Given the description of an element on the screen output the (x, y) to click on. 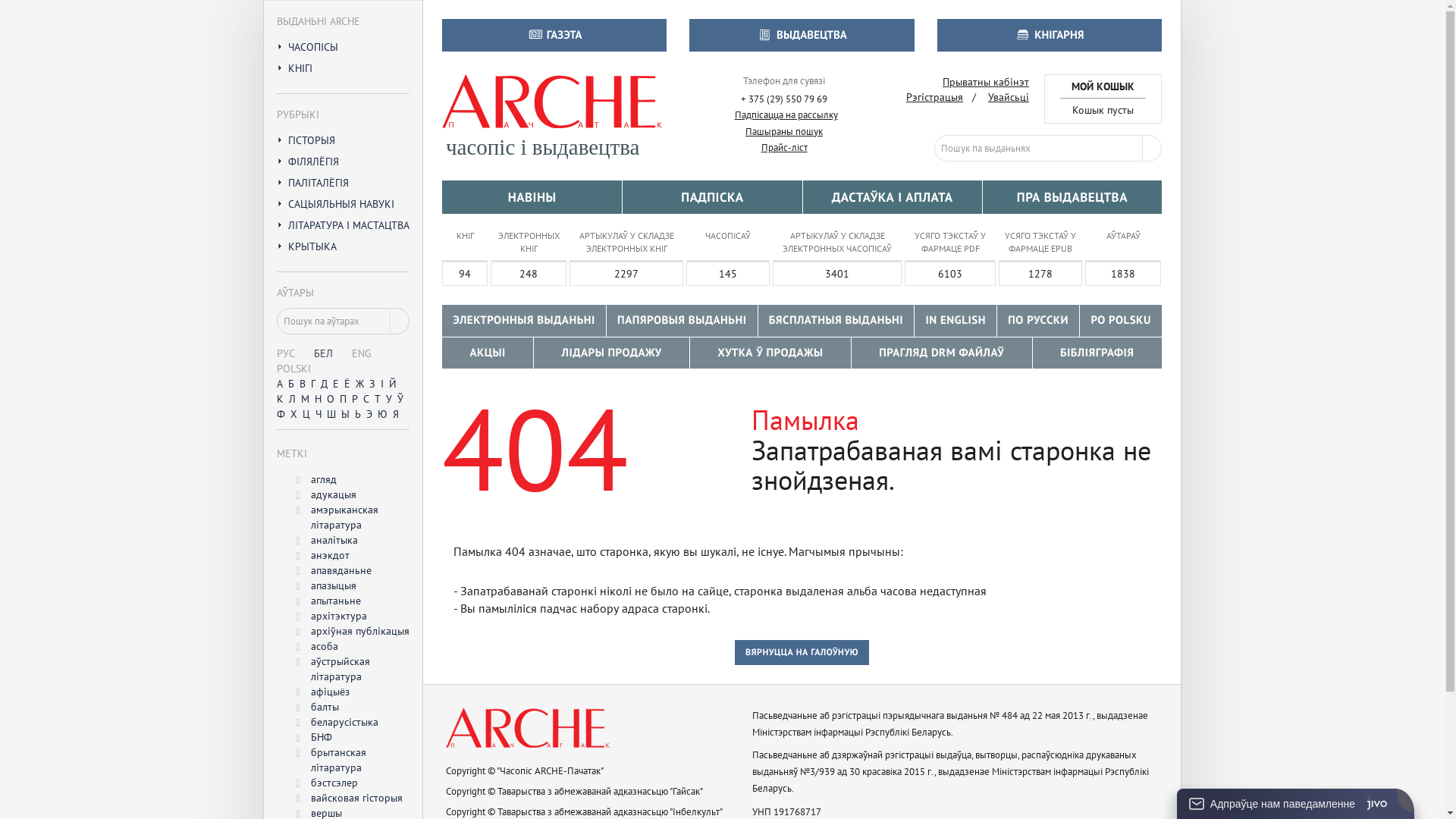
POLSKI Element type: text (293, 368)
PO POLSKU Element type: text (1120, 319)
+ 375 (29) 550 79 69 Element type: text (783, 99)
ENG Element type: text (361, 353)
IN ENGLISH Element type: text (955, 319)
